Given the description of an element on the screen output the (x, y) to click on. 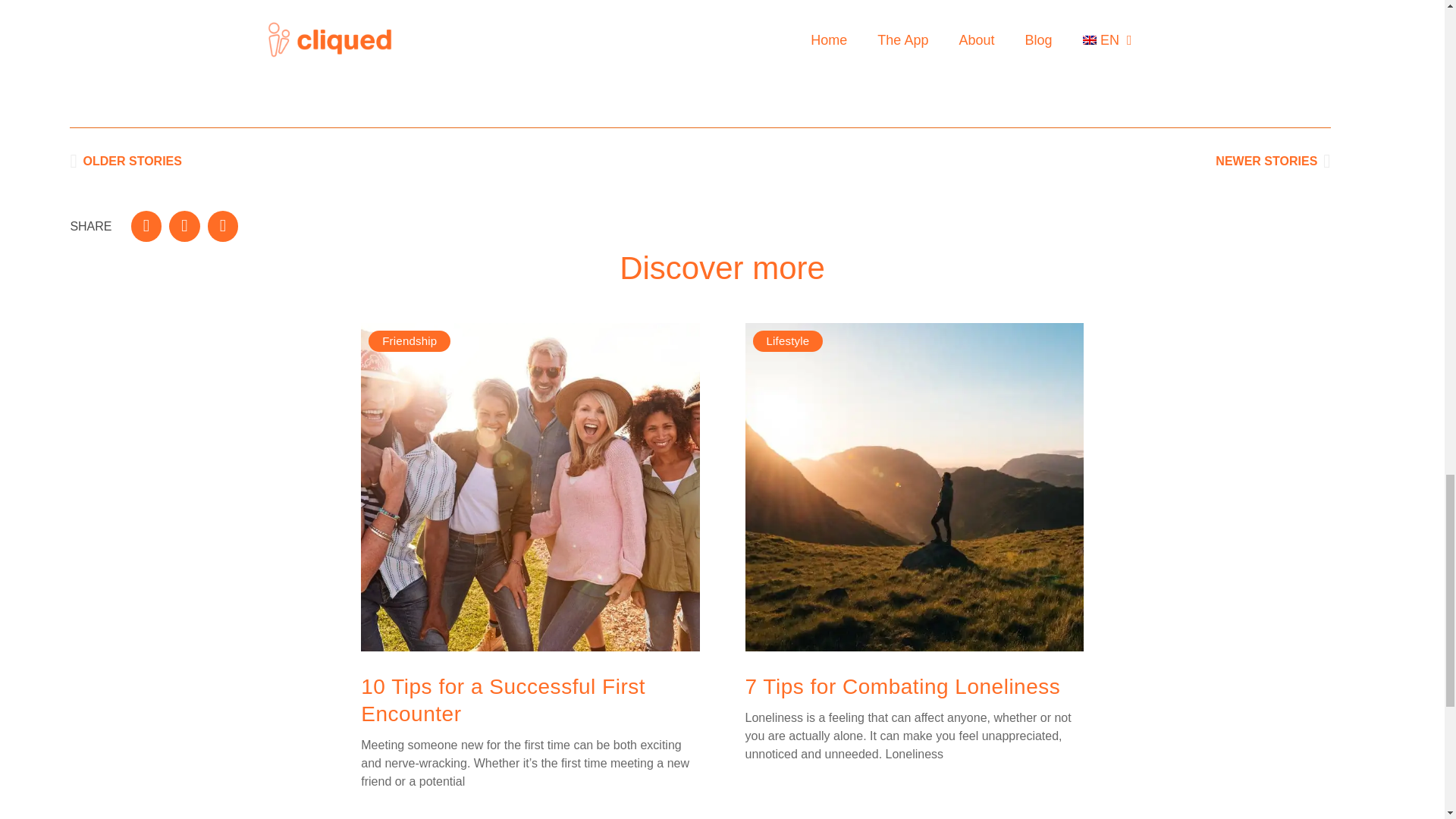
7 Tips for Combating Loneliness (901, 686)
10 Tips for a Successful First Encounter (384, 161)
